Given the description of an element on the screen output the (x, y) to click on. 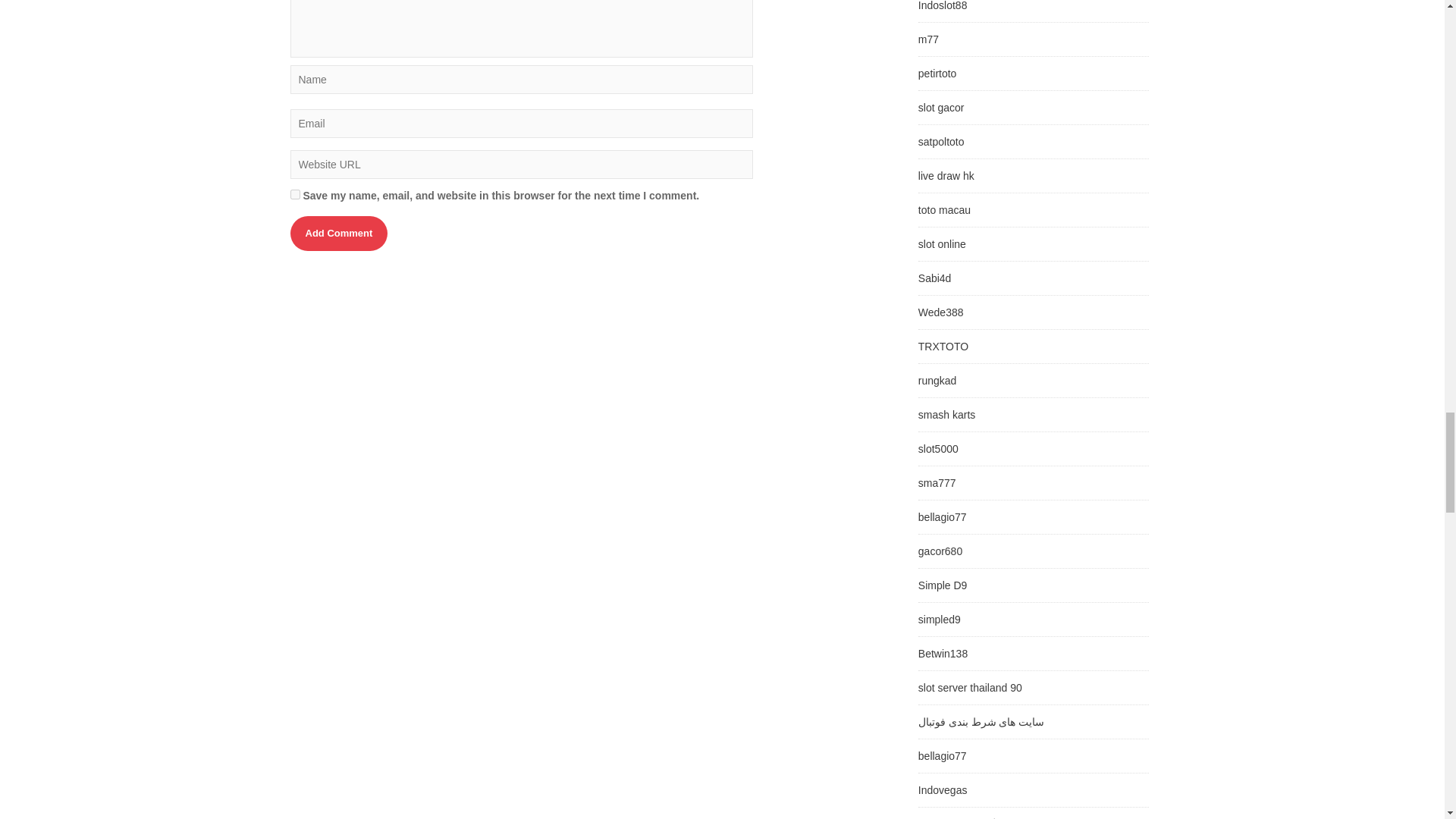
Add Comment (338, 233)
Add Comment (338, 233)
yes (294, 194)
